Given the description of an element on the screen output the (x, y) to click on. 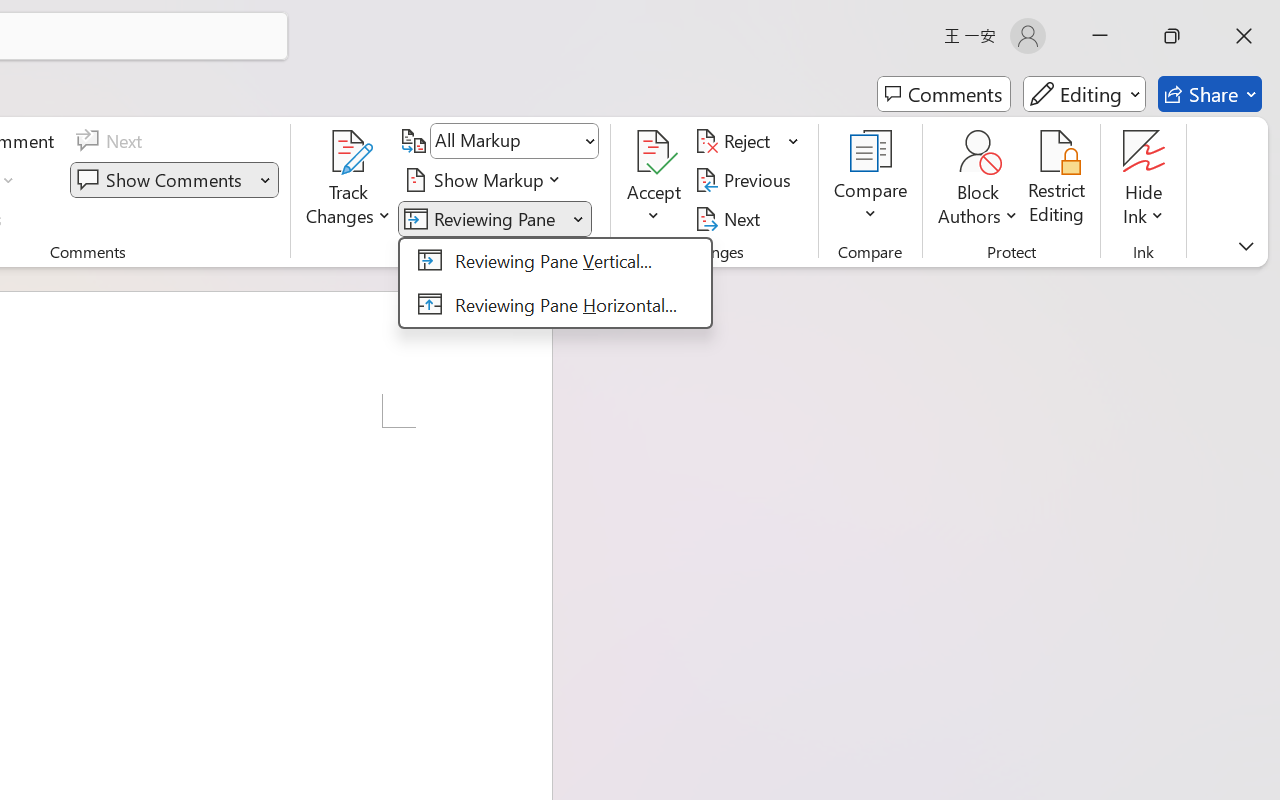
Reviewing Pane (555, 282)
Block Authors (977, 179)
Open (588, 141)
Previous (745, 179)
Block Authors (977, 151)
Reviewing Pane (483, 218)
Hide Ink (1144, 179)
Compare (870, 179)
Reject (747, 141)
Display for Review (514, 141)
